Given the description of an element on the screen output the (x, y) to click on. 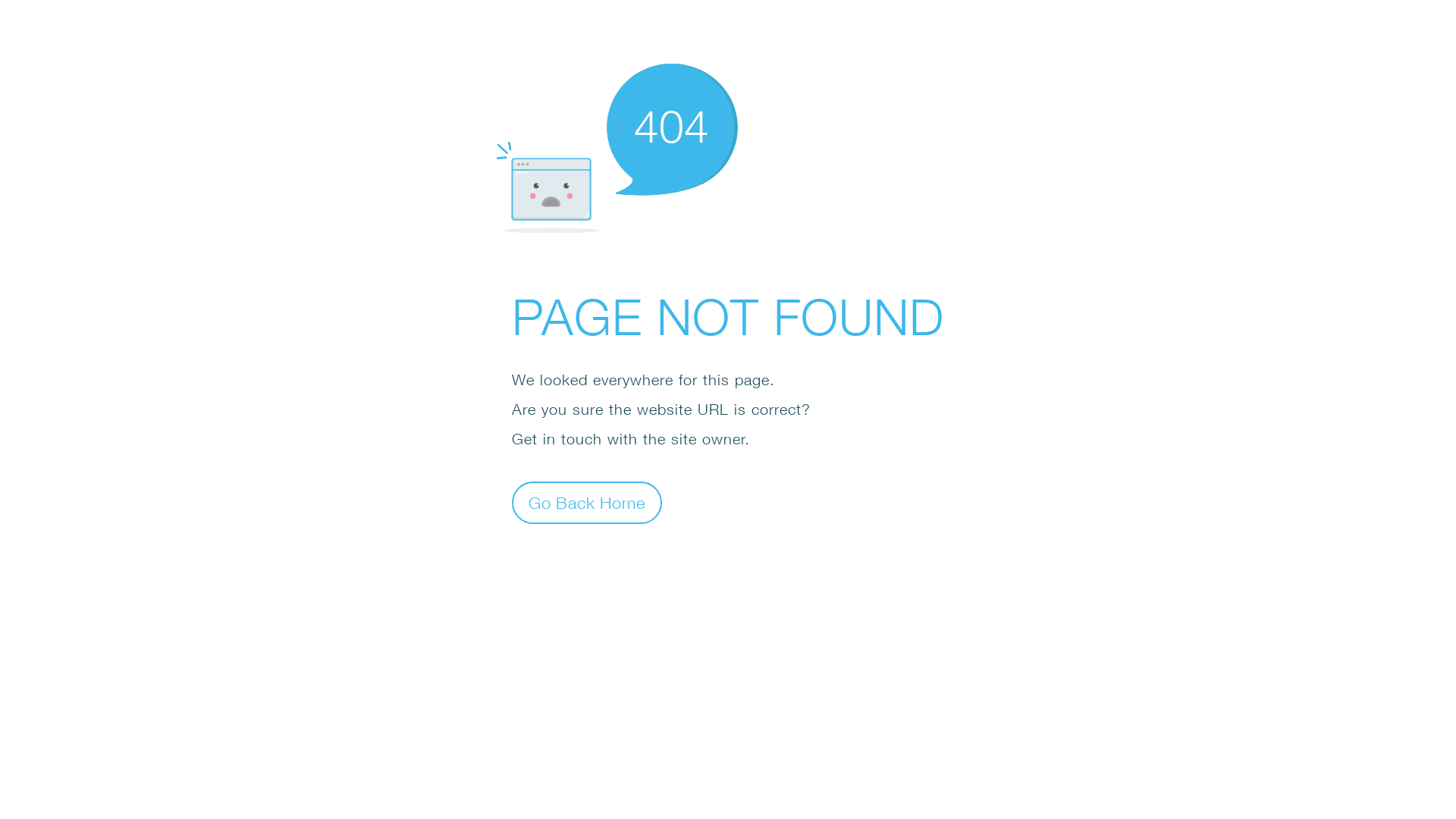
Go Back Home Element type: text (586, 502)
